Given the description of an element on the screen output the (x, y) to click on. 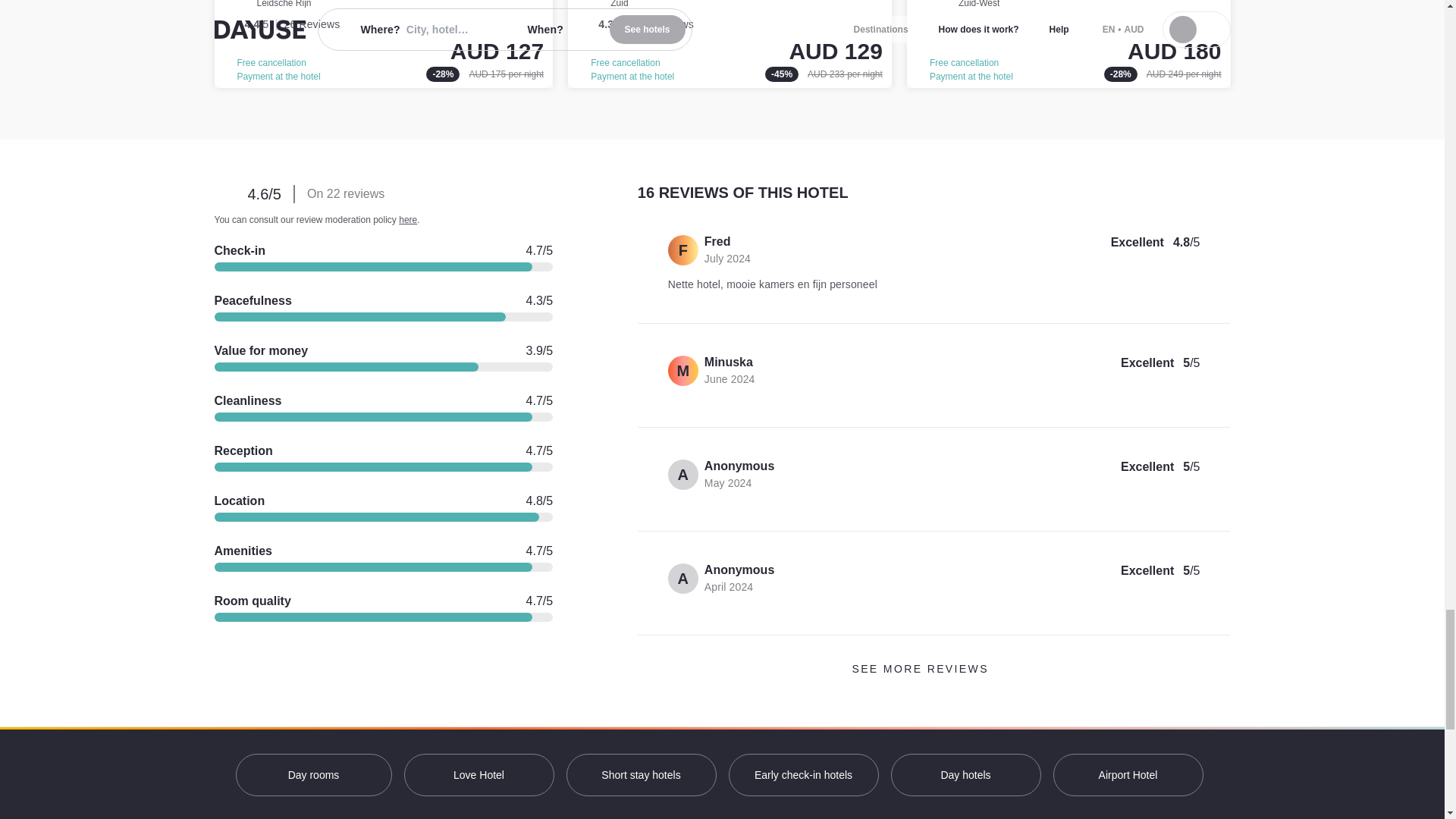
Moxy Utrecht (729, 43)
Holiday Inn Express Utrecht - Papendorp, an IHG Hotel (383, 43)
Van der Valk Hotel Utrecht (1068, 43)
